Given the description of an element on the screen output the (x, y) to click on. 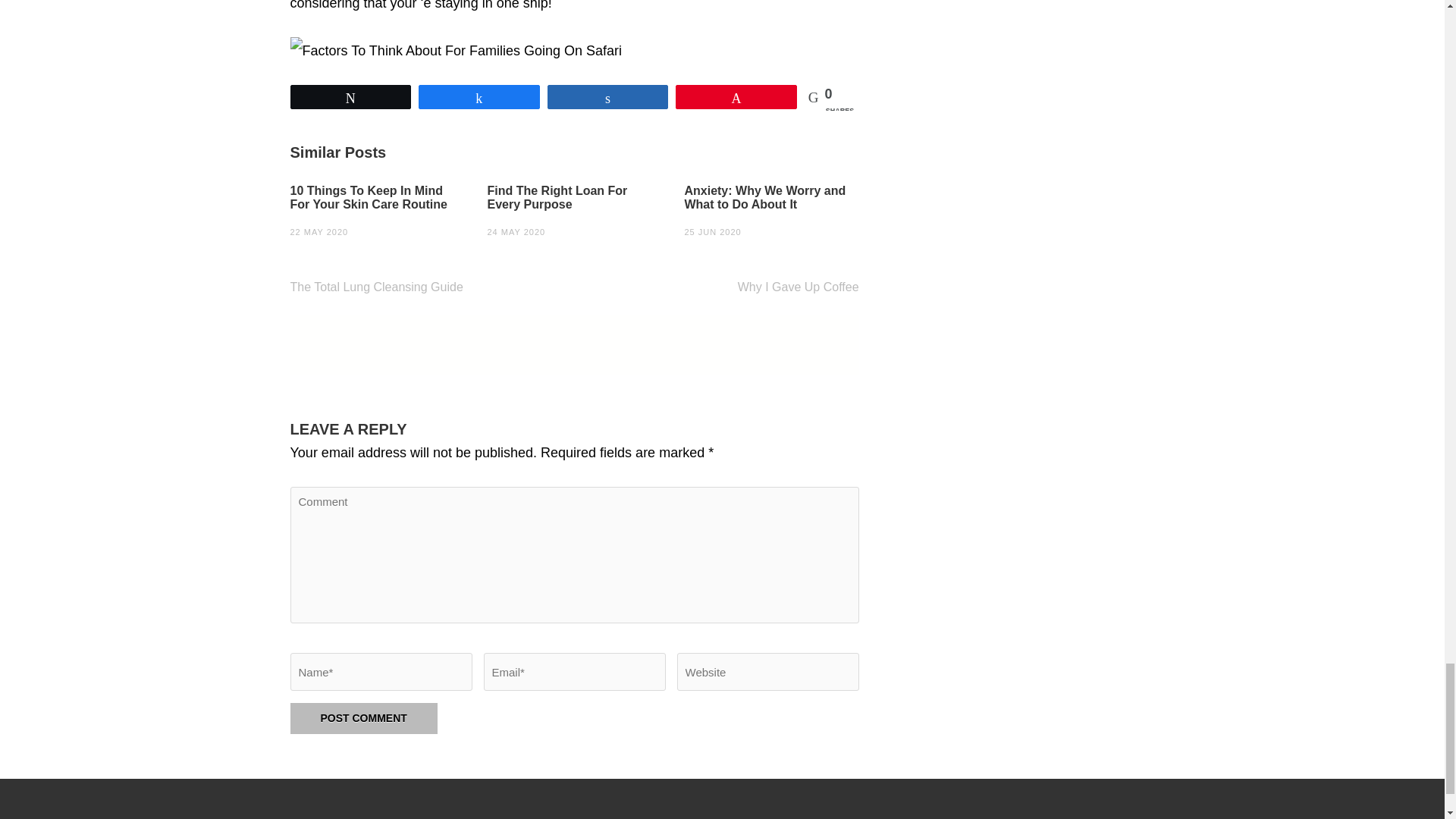
Why I Gave Up Coffee (798, 286)
The Total Lung Cleansing Guide (376, 286)
Post Comment (362, 717)
22 MAY 2020 (318, 231)
Post Comment (362, 717)
25 JUN 2020 (712, 231)
10 Things To Keep In Mind For Your Skin Care Routine (376, 197)
24 MAY 2020 (515, 231)
Find The Right Loan For Every Purpose (573, 197)
Anxiety: Why We Worry and What to Do About It (771, 197)
